Given the description of an element on the screen output the (x, y) to click on. 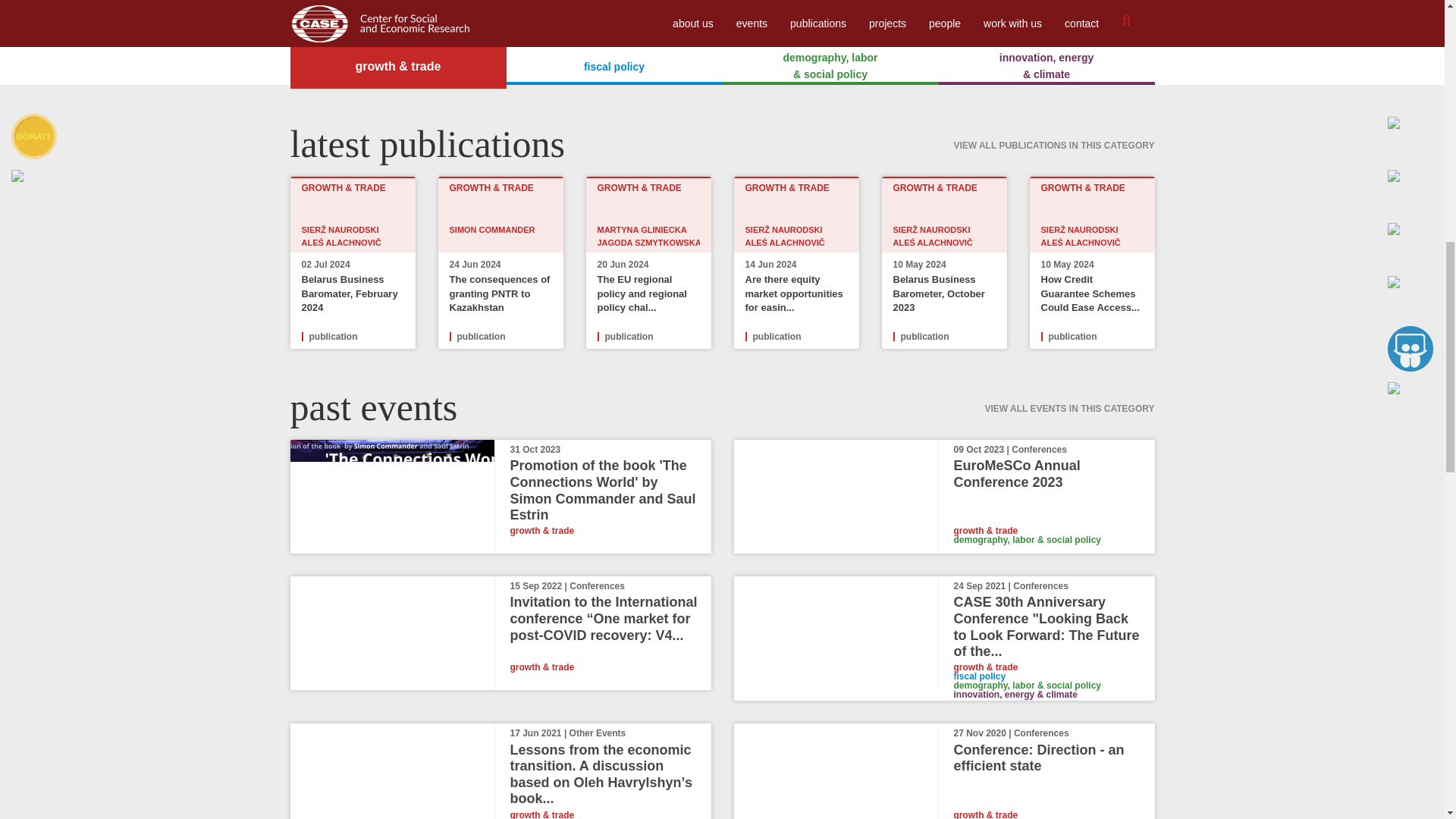
SIMON COMMANDER (491, 229)
The consequences  of granting PNTR  to Kazakhstan (499, 292)
VIEW ALL PUBLICATIONS IN THIS CATEGORY (1053, 134)
MARTYNA GLINIECKA (641, 229)
SIMON COMMANDER (499, 234)
JAGODA SZMYTKOWSKA (648, 242)
The consequences of granting PNTR to Kazakhstan (499, 292)
Belarus Business Baromater, February 2024 (349, 292)
Belarus Business Baromater, February 2024 (349, 292)
